Given the description of an element on the screen output the (x, y) to click on. 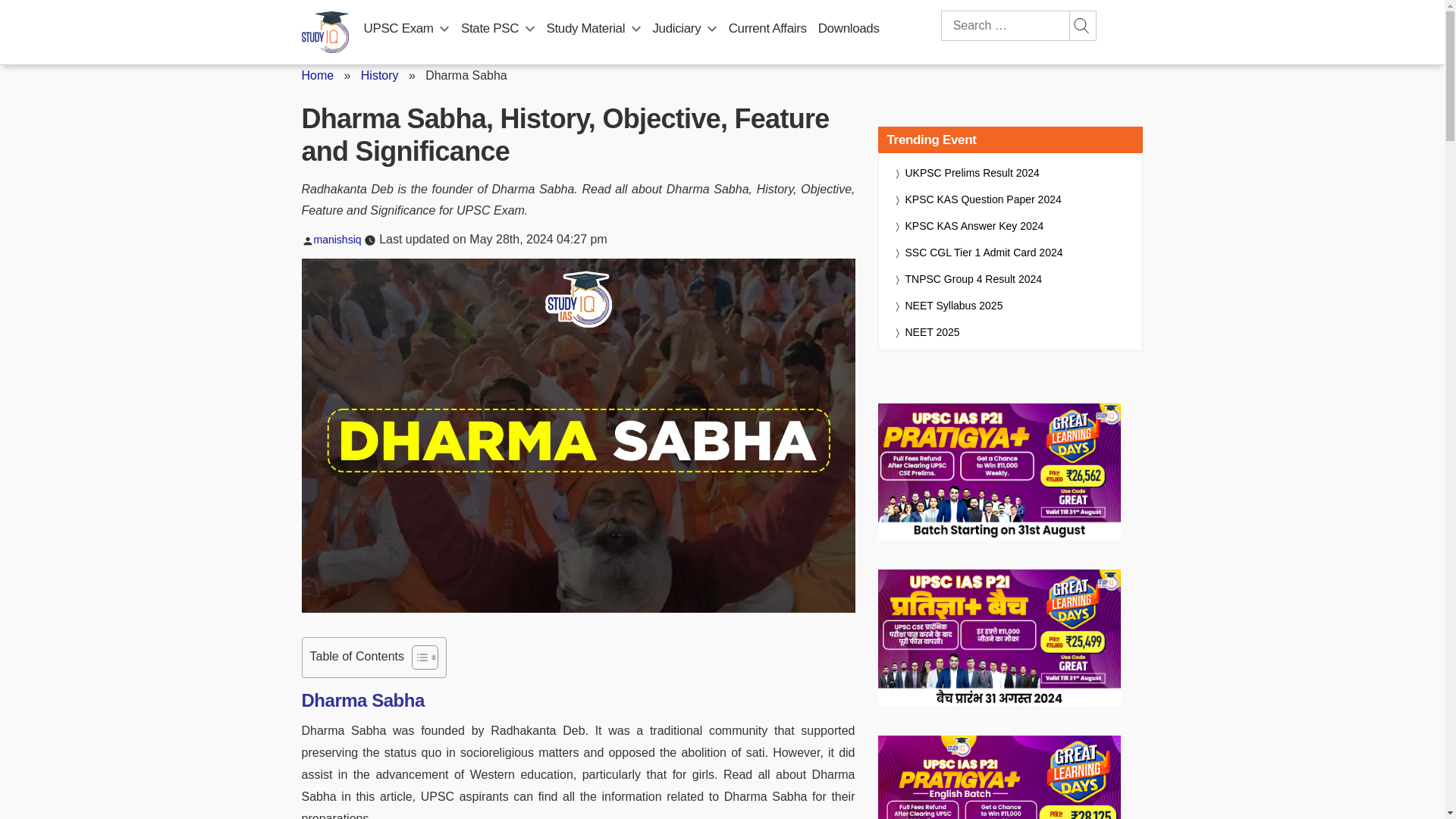
Search (1080, 25)
UPSC Exam (398, 28)
Search (1080, 25)
